Given the description of an element on the screen output the (x, y) to click on. 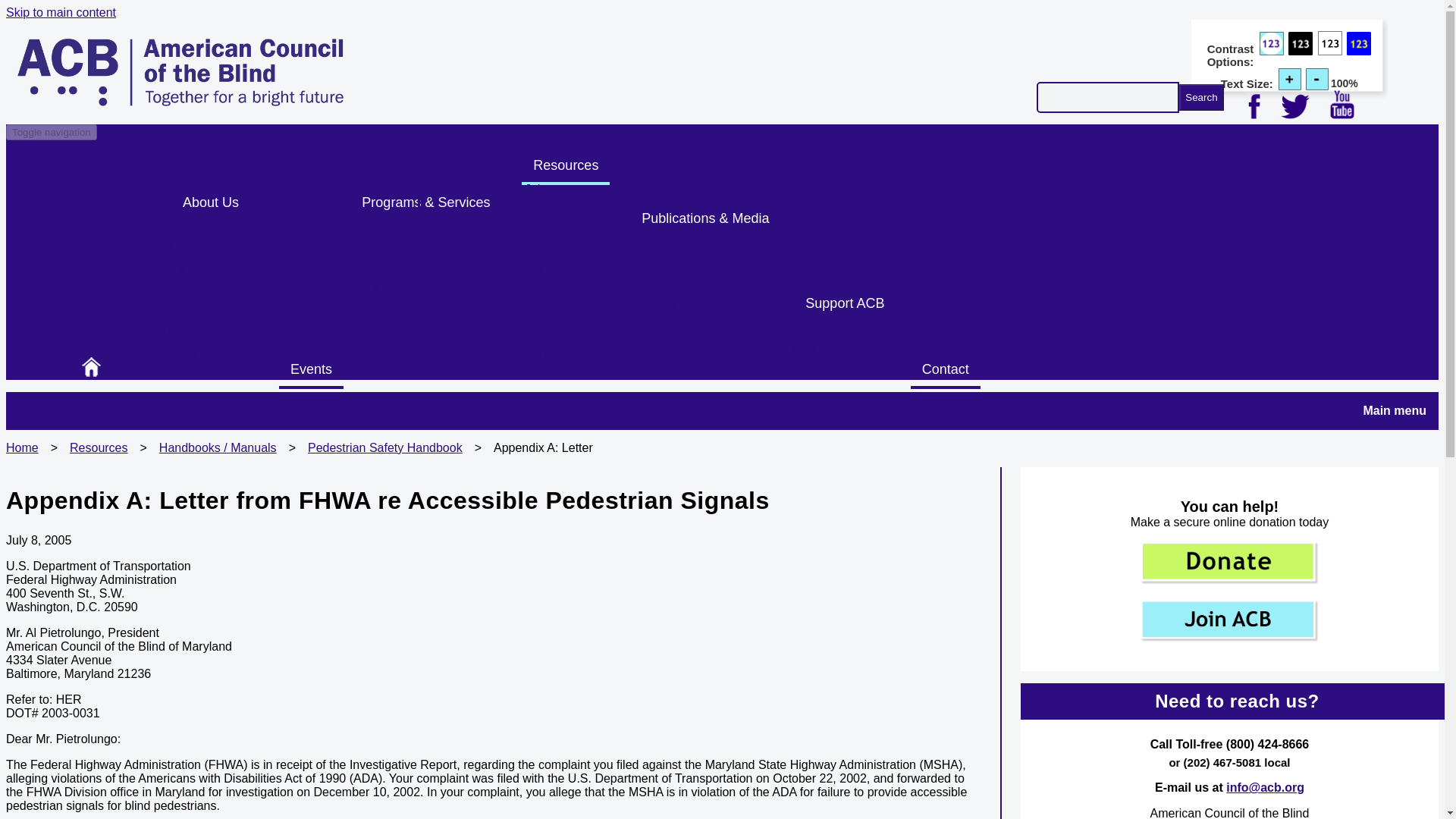
Jobs (537, 193)
Membership (382, 373)
Search (1201, 97)
About Us (210, 203)
ACB Media (382, 332)
Events (311, 370)
Board Of Publications (181, 251)
Resources (565, 166)
Affiliates (181, 336)
Home (180, 101)
ACB Community Events (383, 230)
Audio Description Project (383, 273)
Convention (382, 352)
Affiliate Resources (537, 273)
Board Of Directors (181, 230)
